Given the description of an element on the screen output the (x, y) to click on. 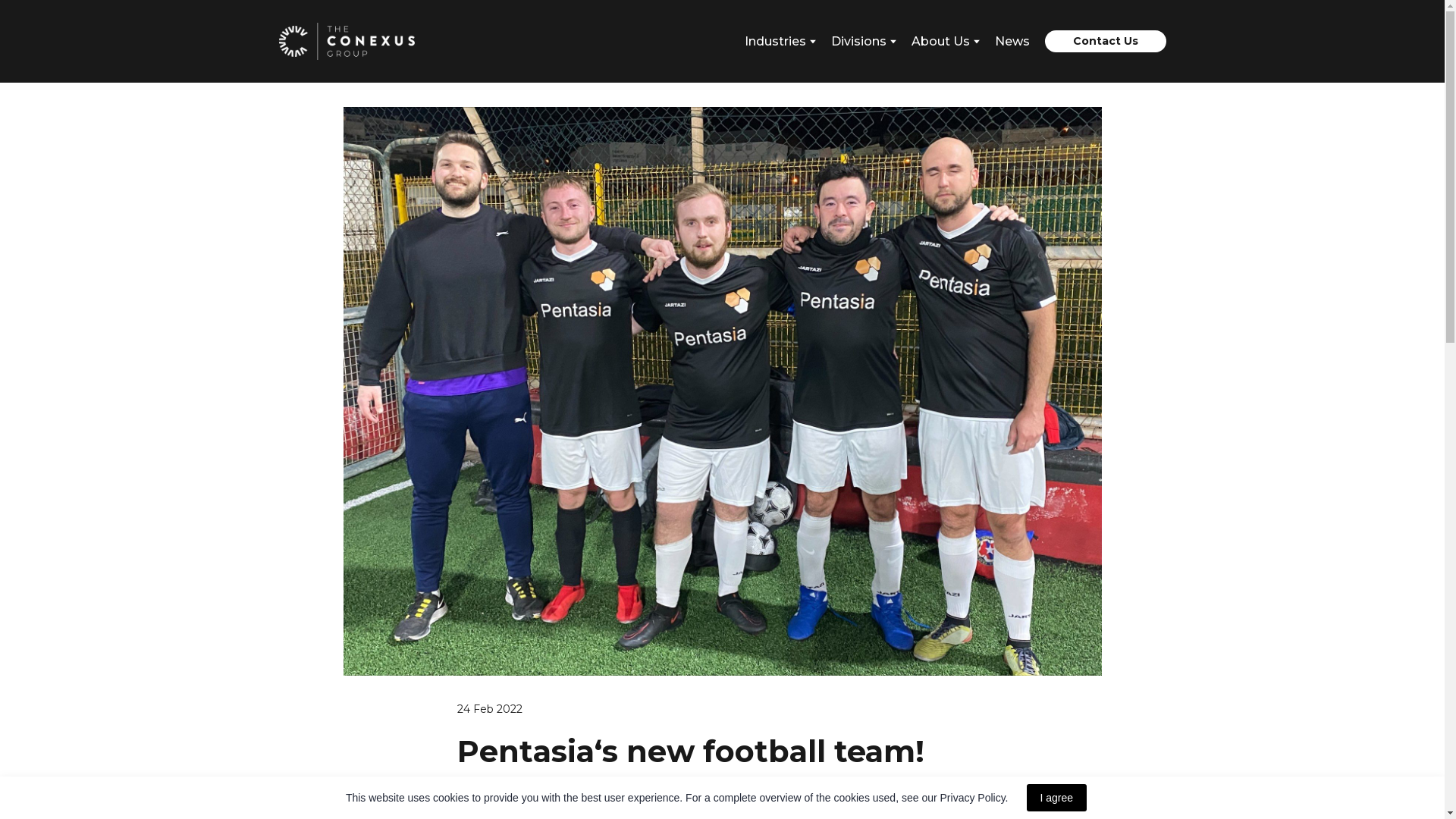
Laurence Howell (749, 813)
Divisions (858, 41)
News (1011, 41)
Contact Us (1105, 41)
